Given the description of an element on the screen output the (x, y) to click on. 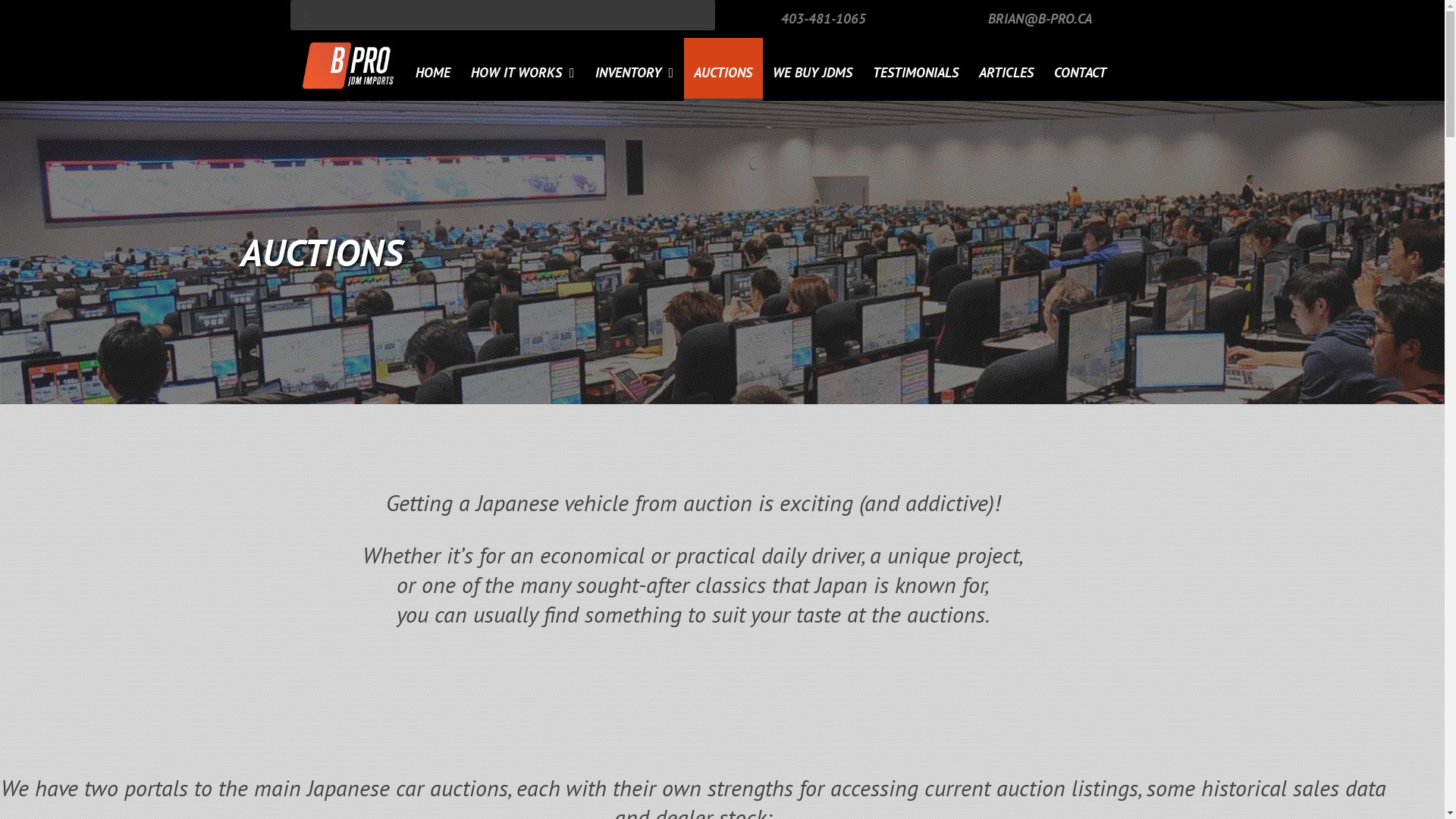
INVENTORY Element type: text (634, 68)
HOME Element type: text (432, 68)
TESTIMONIALS Element type: text (915, 68)
WE BUY JDMS Element type: text (812, 68)
403-481-1065 Element type: text (823, 18)
ARTICLES Element type: text (1006, 68)
CONTACT Element type: text (1080, 68)
HOW IT WORKS Element type: text (523, 68)
AUCTIONS Element type: text (723, 68)
BRIAN@B-PRO.CA Element type: text (1040, 18)
